Given the description of an element on the screen output the (x, y) to click on. 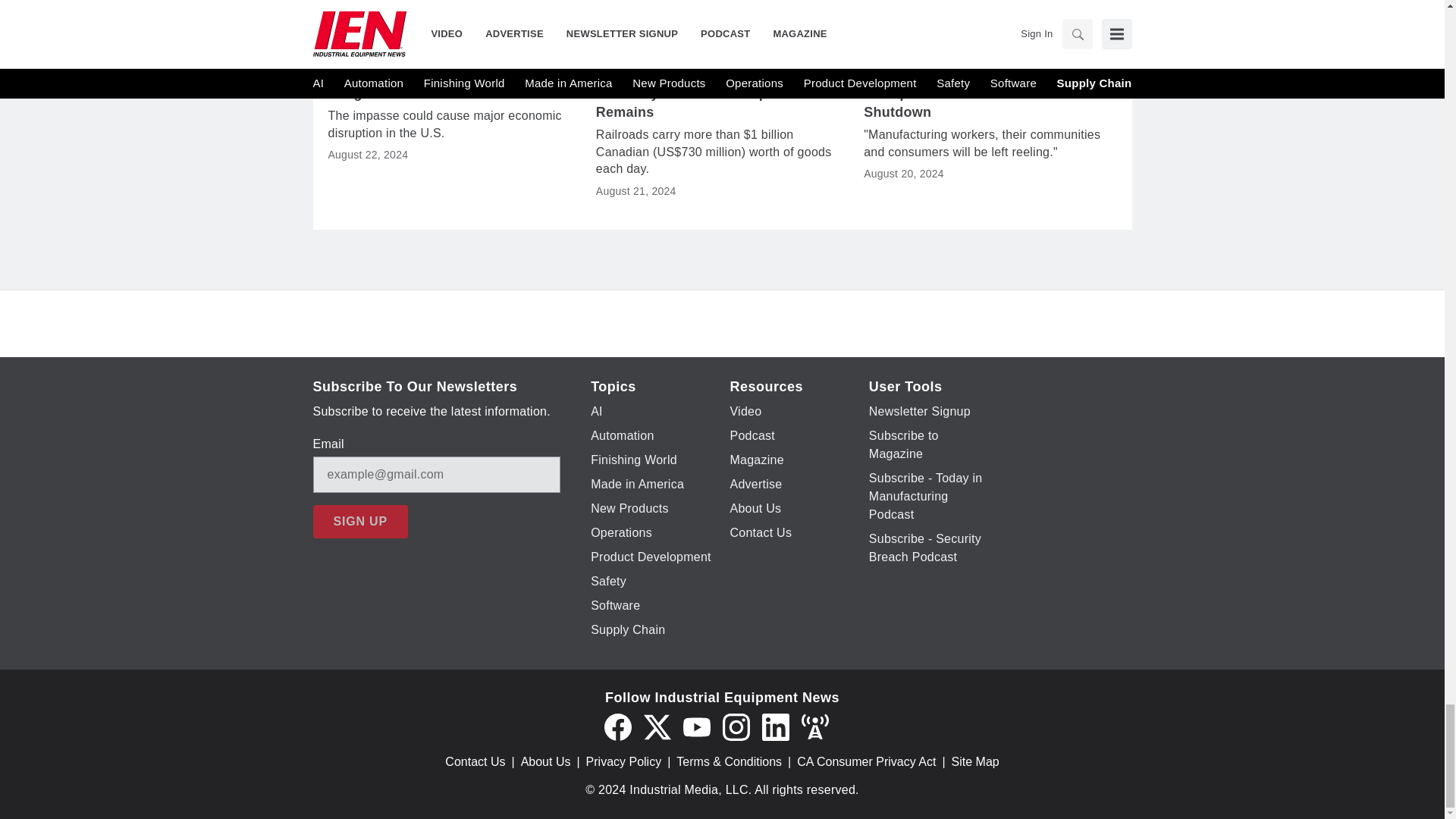
YouTube icon (696, 727)
Facebook icon (617, 727)
Twitter X icon (656, 727)
LinkedIn icon (775, 727)
Instagram icon (735, 727)
